Given the description of an element on the screen output the (x, y) to click on. 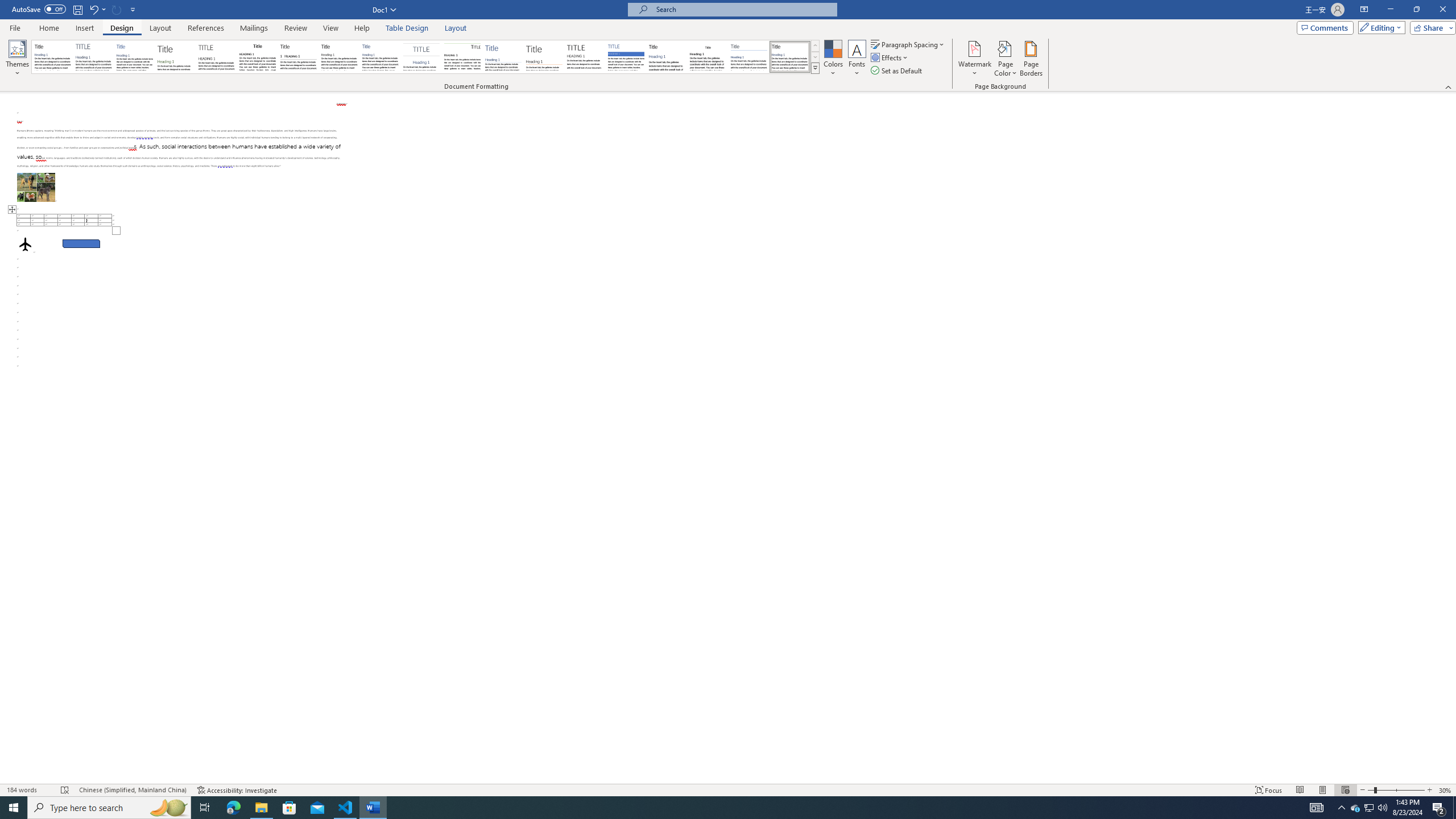
Casual (379, 56)
Paragraph Spacing (908, 44)
Black & White (Classic) (257, 56)
AutomationID: QuickStylesSets (425, 56)
Watermark (974, 58)
Black & White (Word 2013) (338, 56)
Morphological variation in six dogs (36, 187)
Basic (Stylish) (175, 56)
